Given the description of an element on the screen output the (x, y) to click on. 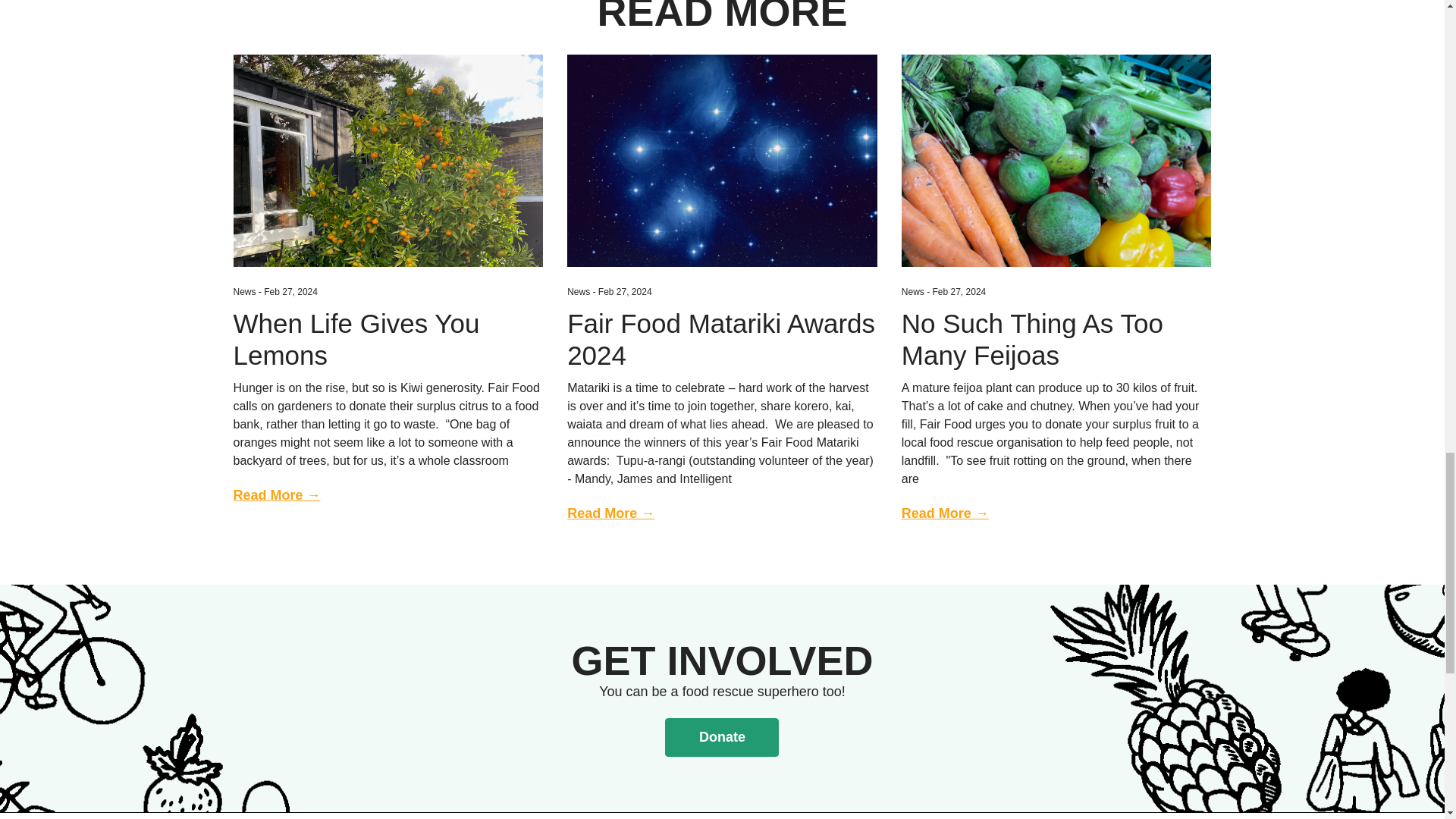
News (244, 291)
Fair Food Matariki Awards 2024 (722, 350)
News (578, 291)
No Such Thing As Too Many Feijoas (1056, 160)
Fair Food Matariki Awards 2024 (722, 160)
No Such Thing As Too Many Feijoas (1056, 350)
When Life Gives You Lemons (387, 160)
When Life Gives You Lemons (387, 350)
When Life Gives You Lemons (387, 350)
